Given the description of an element on the screen output the (x, y) to click on. 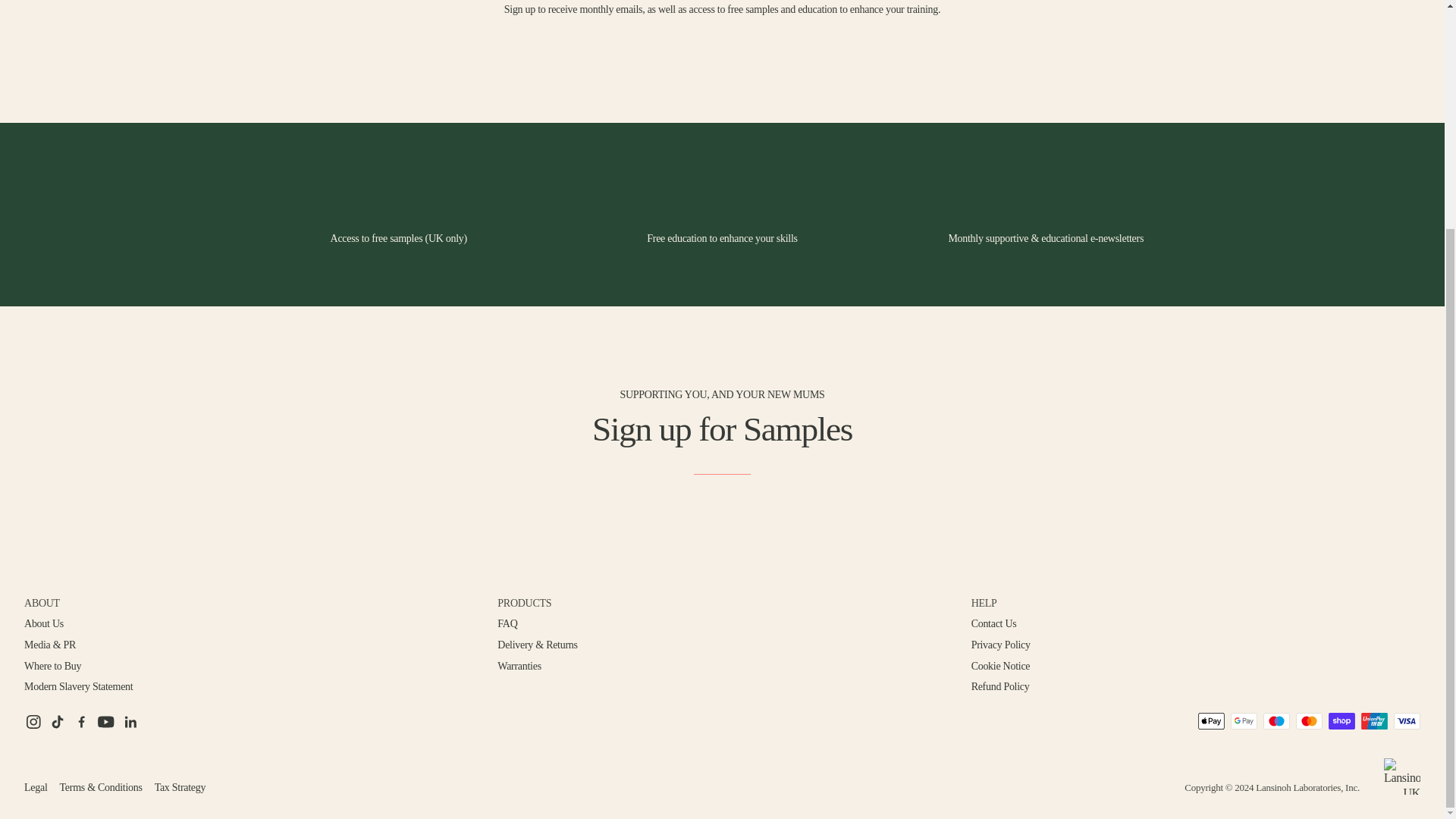
MASTERCARD (1308, 720)
Facebook (81, 721)
Tiktok (57, 721)
UNION PAY (1374, 720)
SHOP PAY (1341, 720)
MAESTRO (1276, 720)
Instagram (33, 721)
GOOGLE PAY (1243, 720)
YouTube (106, 721)
APPLE PAY (1211, 720)
